Given the description of an element on the screen output the (x, y) to click on. 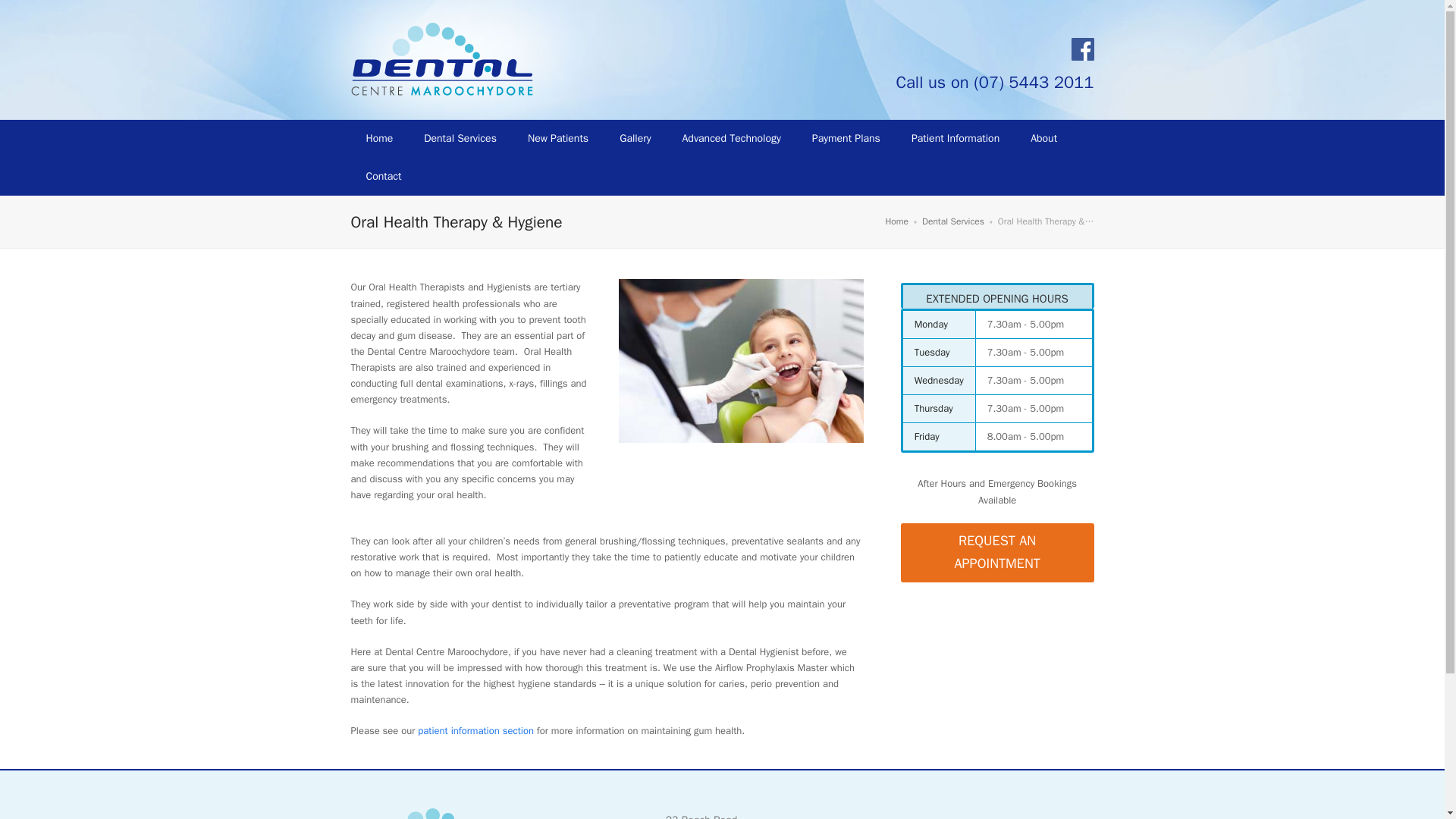
Dental Services (952, 221)
Gallery (634, 138)
Dental Centre Maroochydore - Oral Health (740, 361)
patient information section (475, 730)
REQUEST AN APPOINTMENT (997, 553)
Contact (383, 176)
Payment Plans (845, 138)
Advanced Technology (731, 138)
Home (378, 138)
New Patients (558, 138)
